Given the description of an element on the screen output the (x, y) to click on. 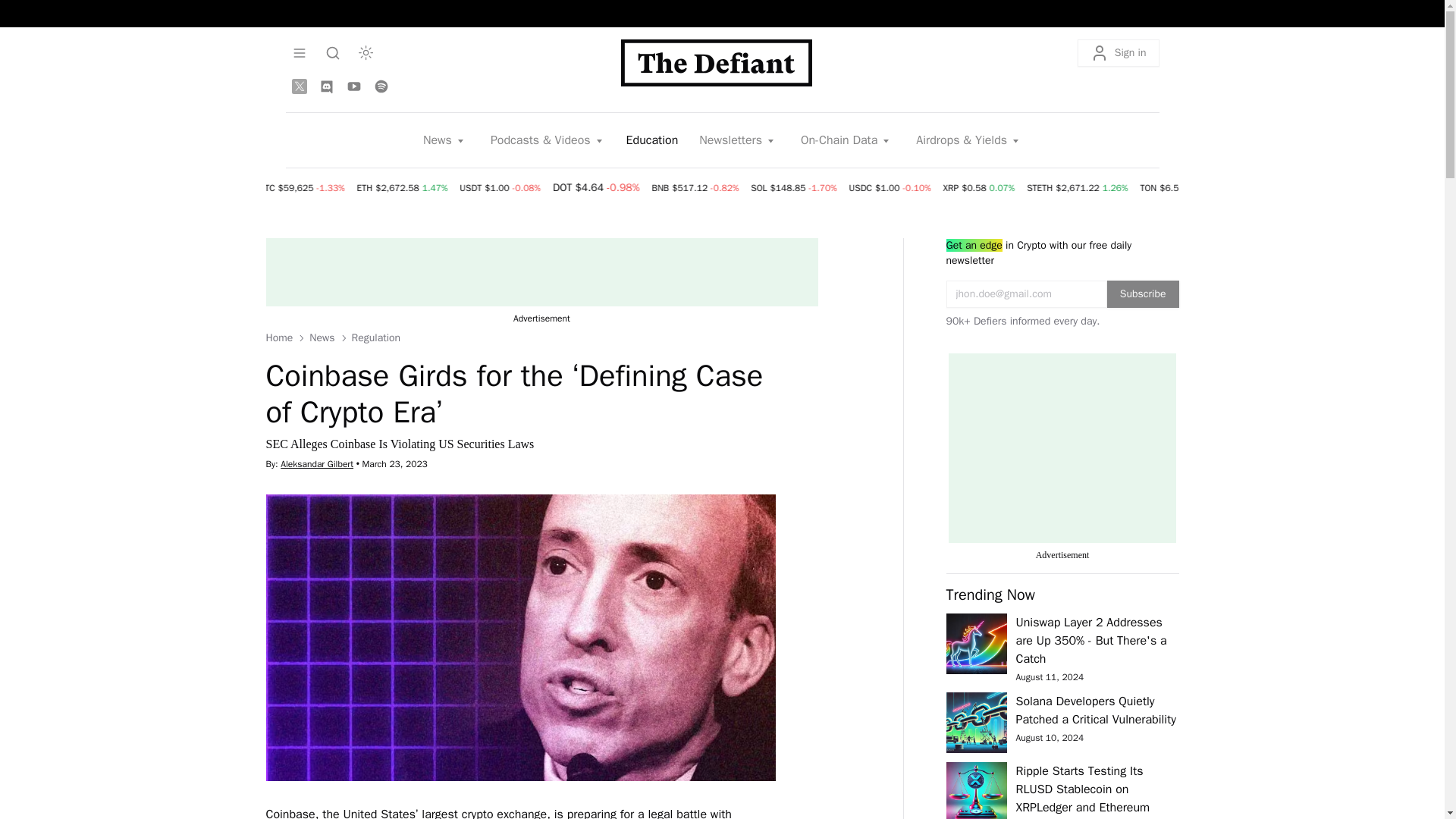
Twitter (299, 85)
Education (652, 140)
Spotify (380, 86)
News (444, 139)
Twitter (298, 86)
Toggle navigation menu (332, 52)
Toggle theme (365, 52)
YouTube (353, 86)
Discord (326, 85)
Newsletters (738, 139)
